Given the description of an element on the screen output the (x, y) to click on. 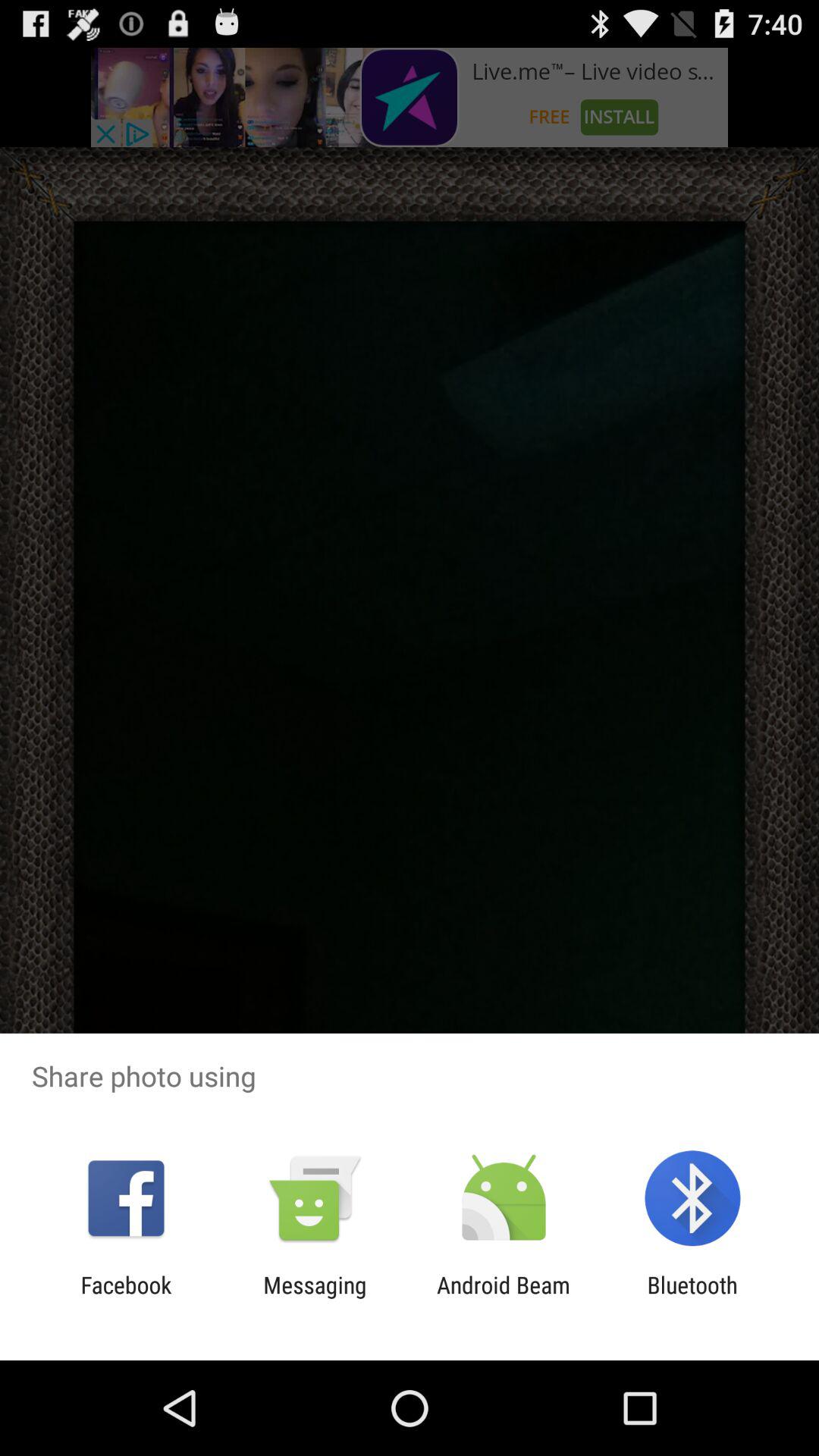
swipe to bluetooth (692, 1298)
